Given the description of an element on the screen output the (x, y) to click on. 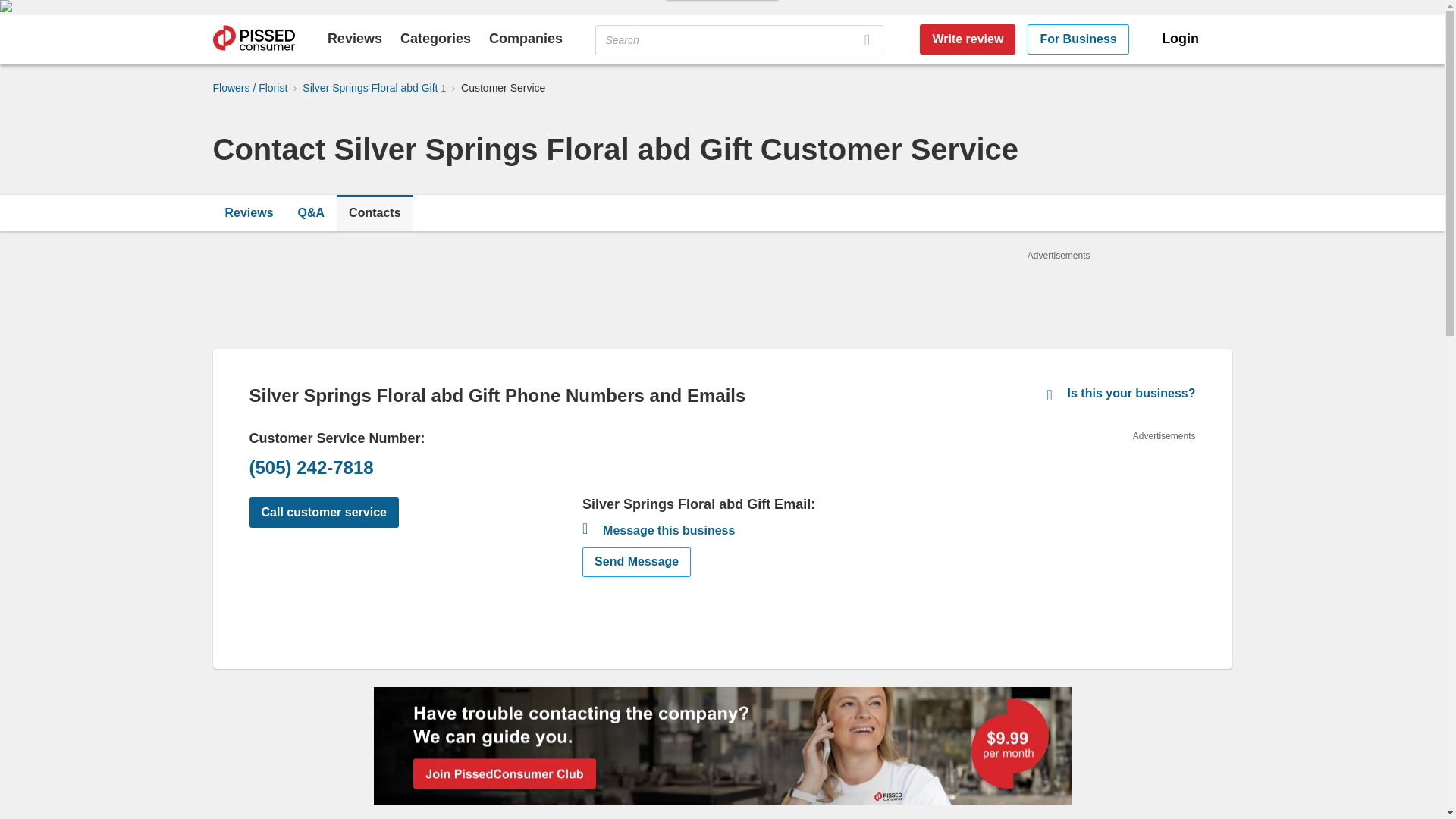
Silver Springs Floral abd Gift reviews (248, 212)
Reviews (354, 38)
Write review (967, 39)
Companies (525, 38)
Call customer service (322, 512)
Reviews (248, 212)
Contacts (374, 212)
For Business (1077, 39)
PissedConsumer (253, 39)
Advertisement (1081, 537)
